Given the description of an element on the screen output the (x, y) to click on. 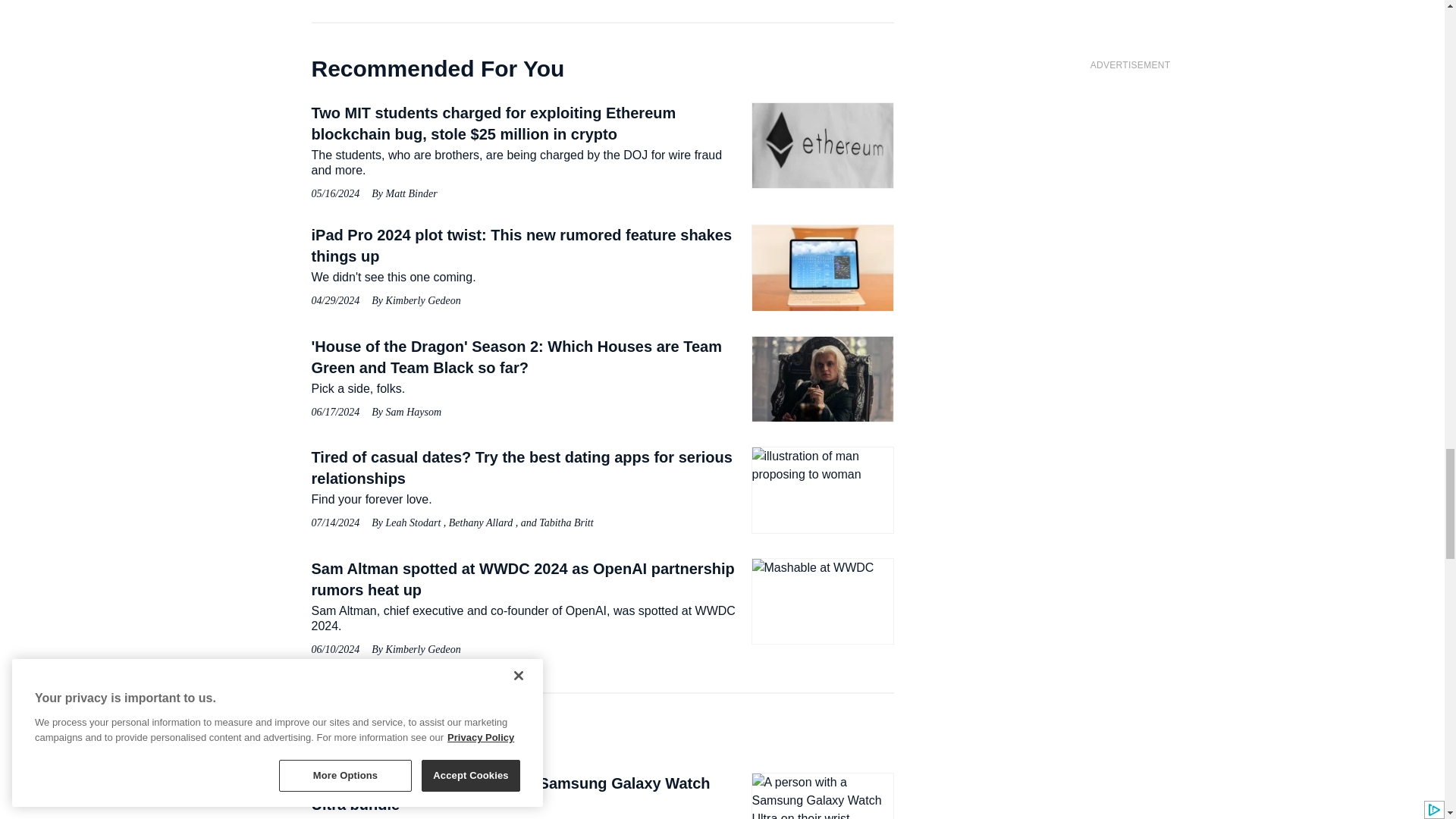
3rd party ad content (1129, 175)
